Given the description of an element on the screen output the (x, y) to click on. 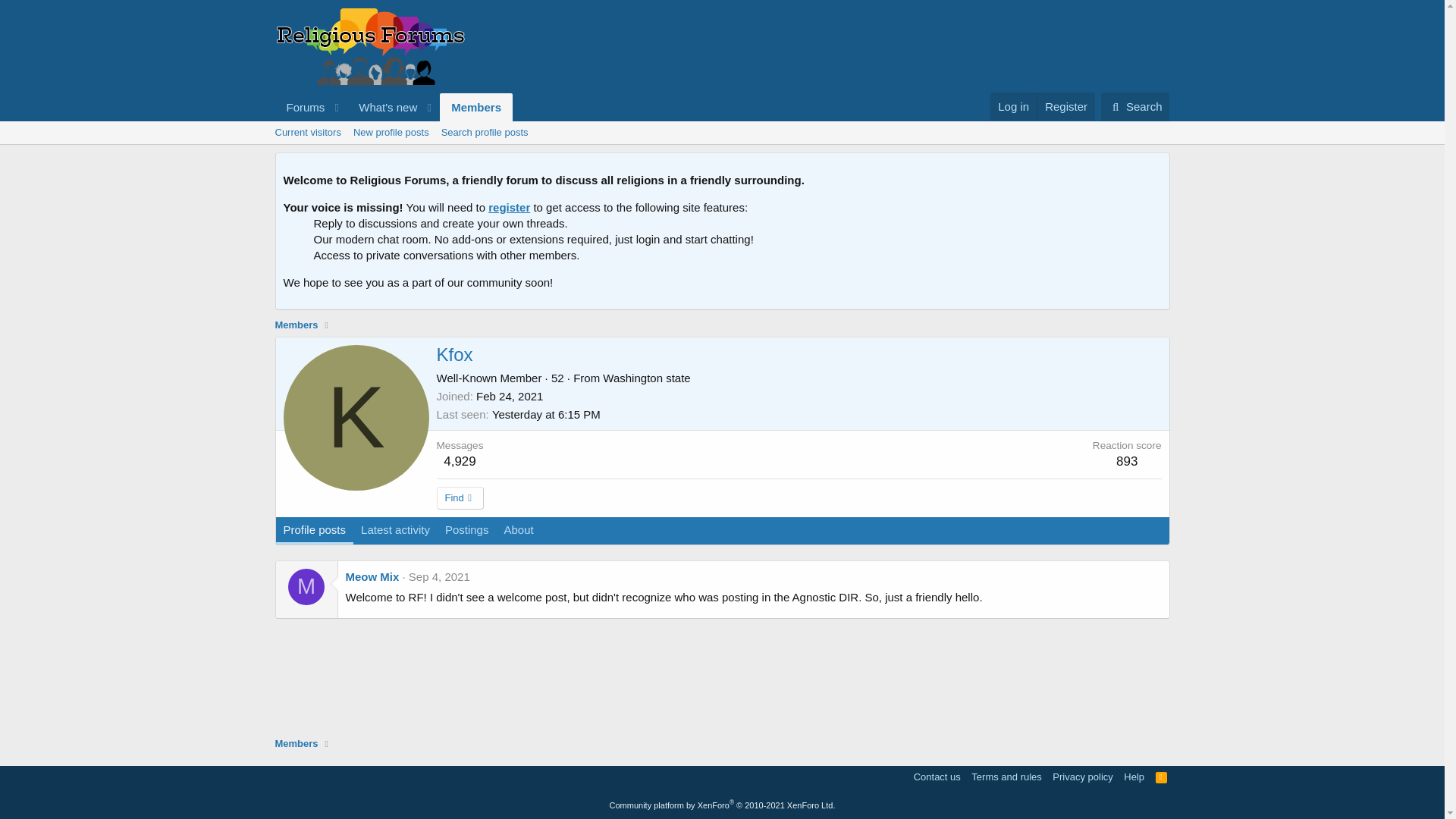
What's new (383, 107)
Current visitors (306, 132)
RSS (1161, 776)
Feb 24, 2021 at 8:18 PM (509, 395)
Forums (300, 107)
Search profile posts (484, 132)
Search (1135, 106)
Profile posts Latest activity Postings About (408, 530)
register (508, 206)
Find (460, 497)
